Given the description of an element on the screen output the (x, y) to click on. 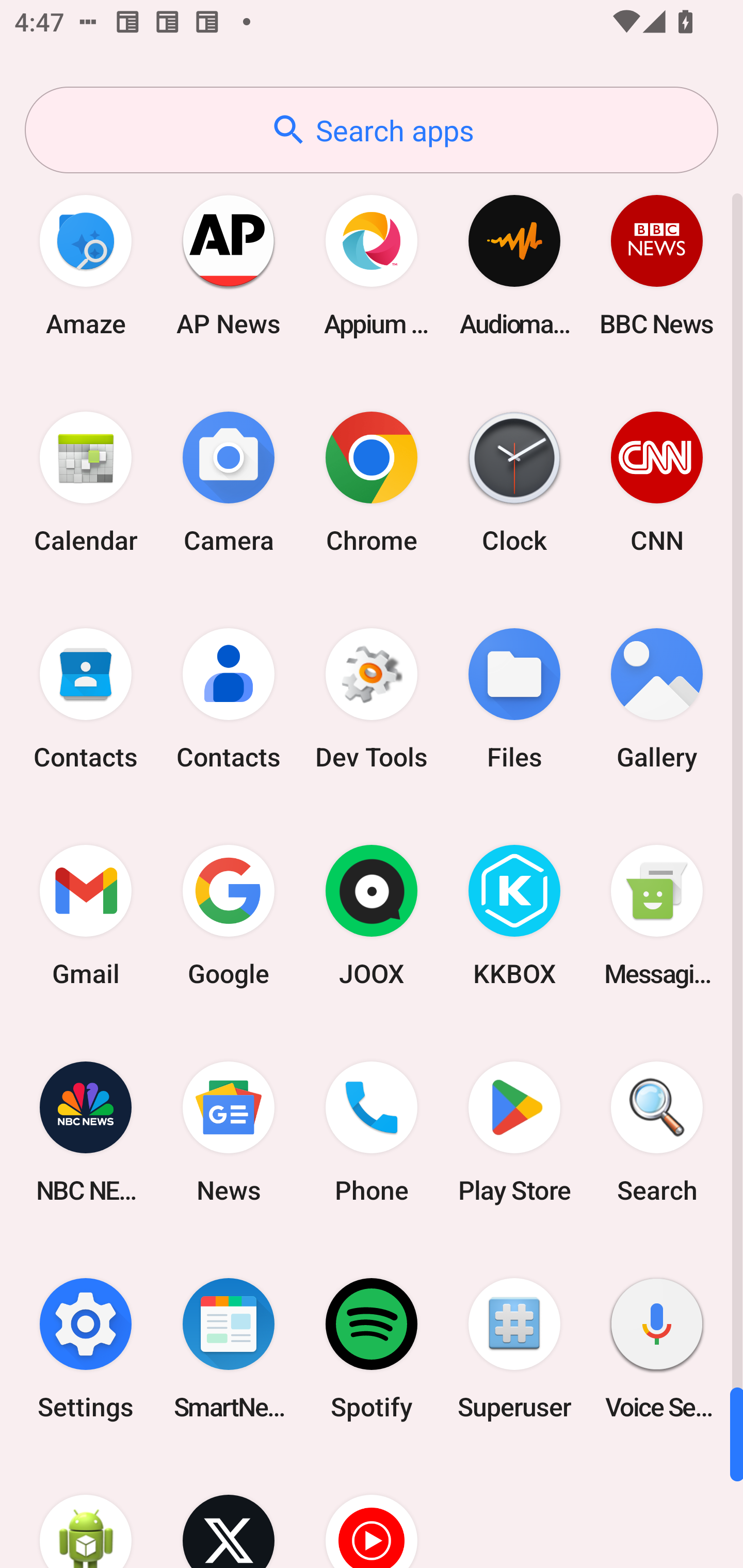
  Search apps (371, 130)
Amaze (85, 264)
AP News (228, 264)
Appium Settings (371, 264)
Audio­mack (514, 264)
BBC News (656, 264)
Calendar (85, 482)
Camera (228, 482)
Chrome (371, 482)
Clock (514, 482)
CNN (656, 482)
Contacts (85, 699)
Contacts (228, 699)
Dev Tools (371, 699)
Files (514, 699)
Gallery (656, 699)
Gmail (85, 915)
Google (228, 915)
JOOX (371, 915)
KKBOX (514, 915)
Messaging (656, 915)
NBC NEWS (85, 1131)
News (228, 1131)
Phone (371, 1131)
Play Store (514, 1131)
Search (656, 1131)
Settings (85, 1348)
SmartNews (228, 1348)
Spotify (371, 1348)
Superuser (514, 1348)
Voice Search (656, 1348)
WebView Browser Tester (85, 1512)
X (228, 1512)
YT Music (371, 1512)
